Given the description of an element on the screen output the (x, y) to click on. 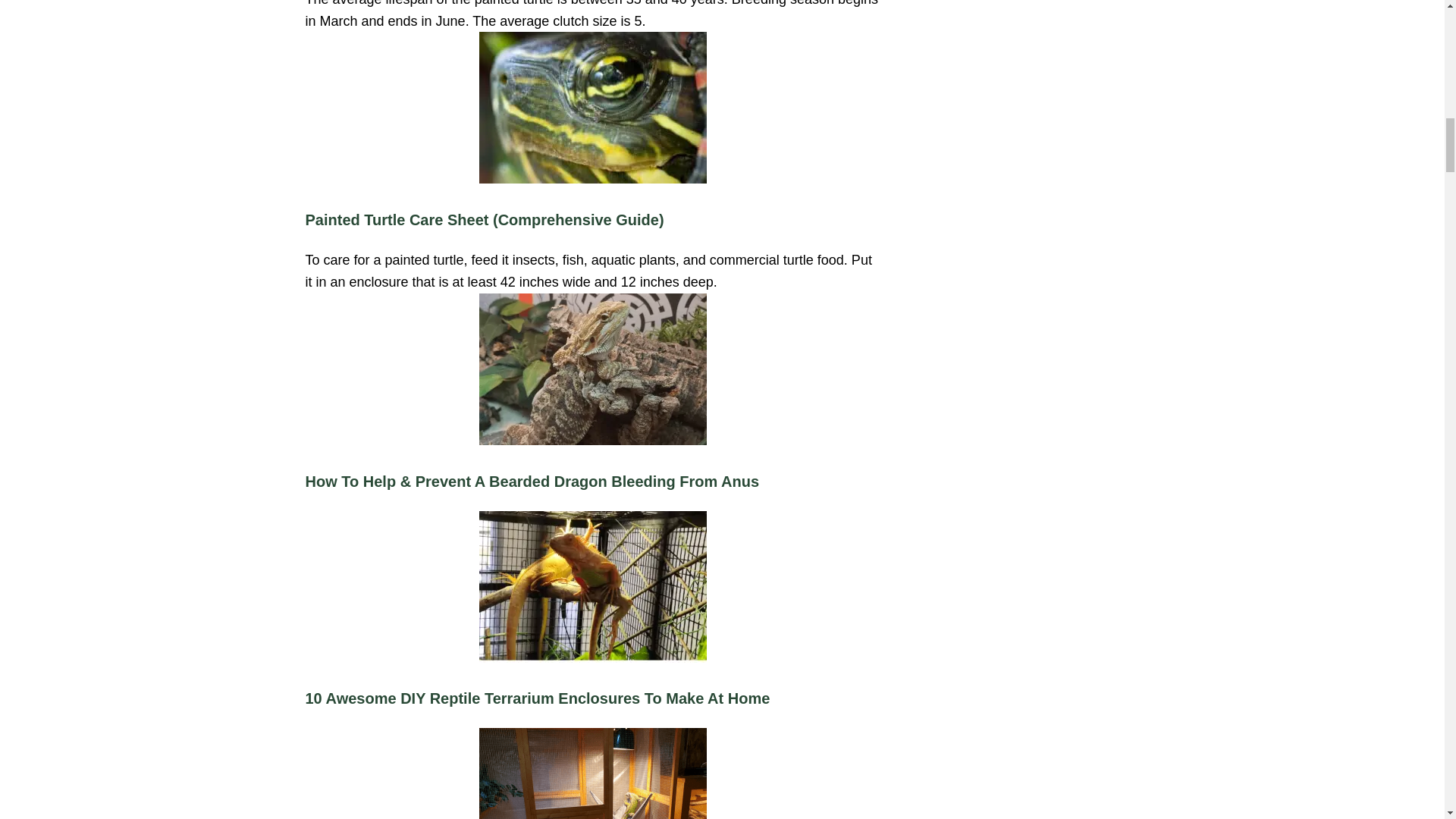
The 4 Best Iguana Cages: Enclosure Guide And Review (592, 773)
